Given the description of an element on the screen output the (x, y) to click on. 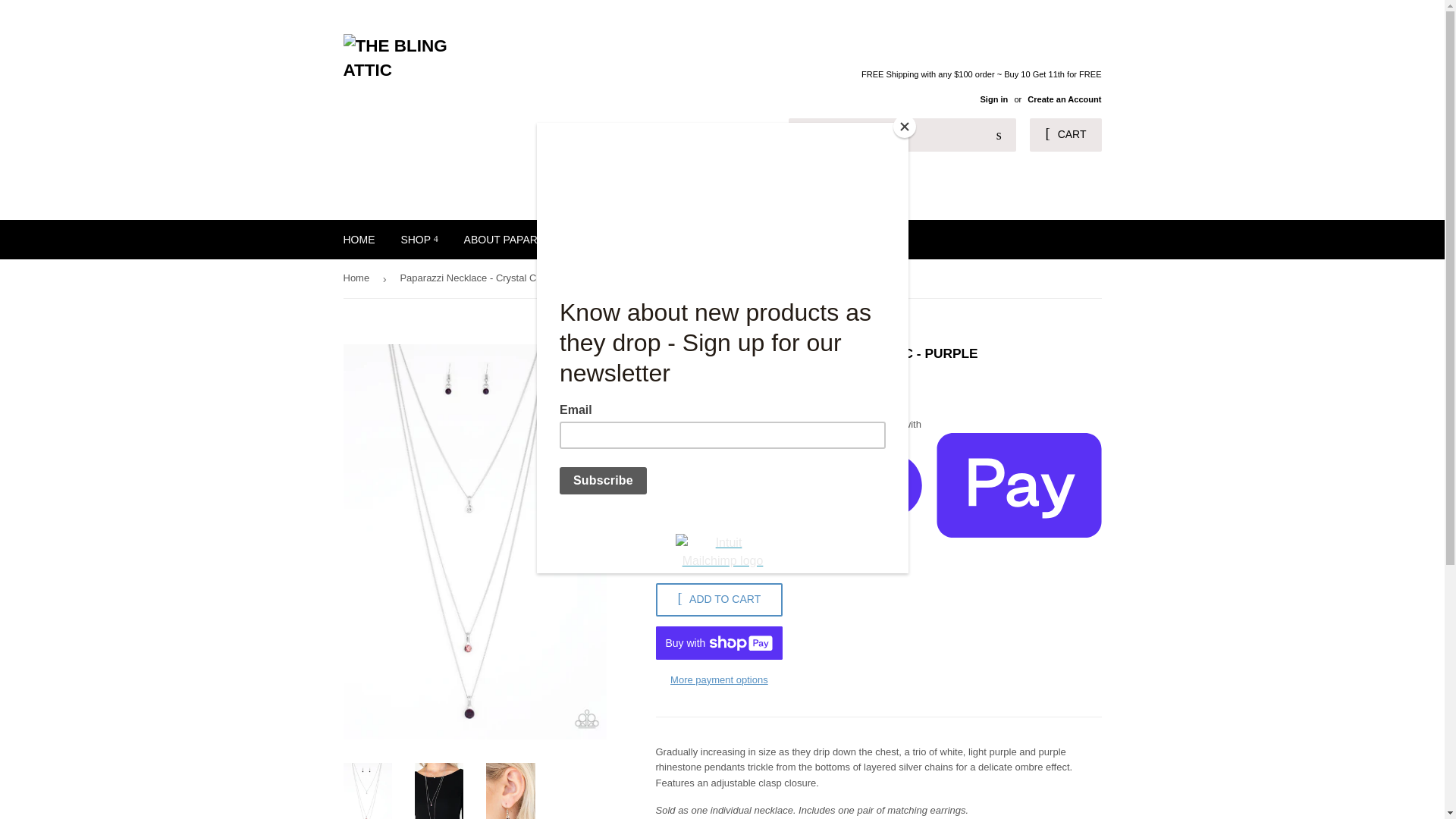
CART (1064, 134)
Create an Account (1063, 99)
Search (998, 135)
Sign in (993, 99)
